Given the description of an element on the screen output the (x, y) to click on. 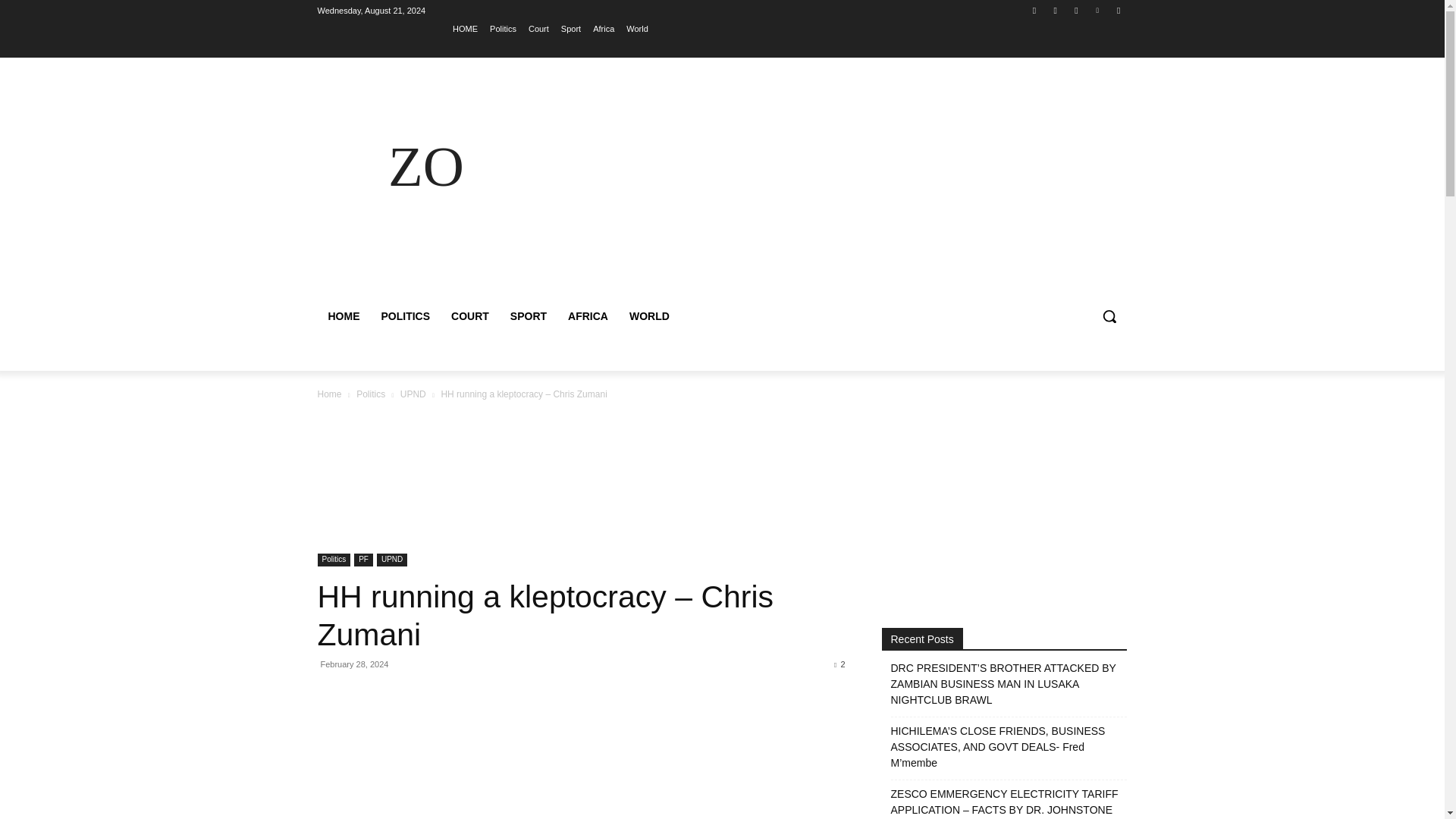
HOME (343, 316)
WORLD (648, 316)
World (636, 28)
PF (362, 559)
Youtube (1117, 9)
2 (839, 664)
HOME (464, 28)
POLITICS (405, 316)
UPND (392, 559)
Advertisement (854, 184)
